Given the description of an element on the screen output the (x, y) to click on. 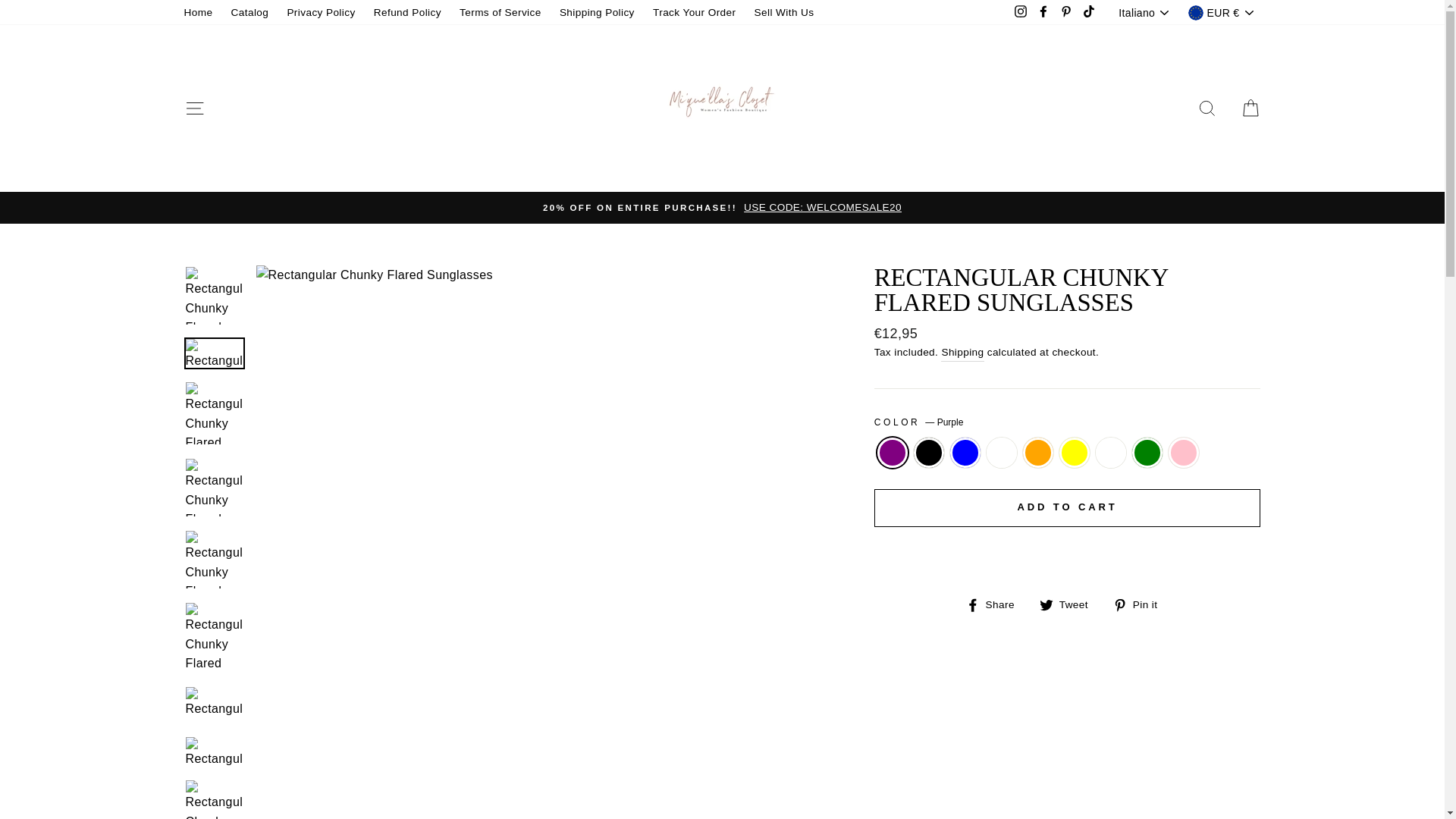
Refund Policy (407, 12)
Catalog (250, 12)
Pin on Pinterest (1141, 605)
Privacy Policy (320, 12)
Shipping Policy (596, 12)
